Given the description of an element on the screen output the (x, y) to click on. 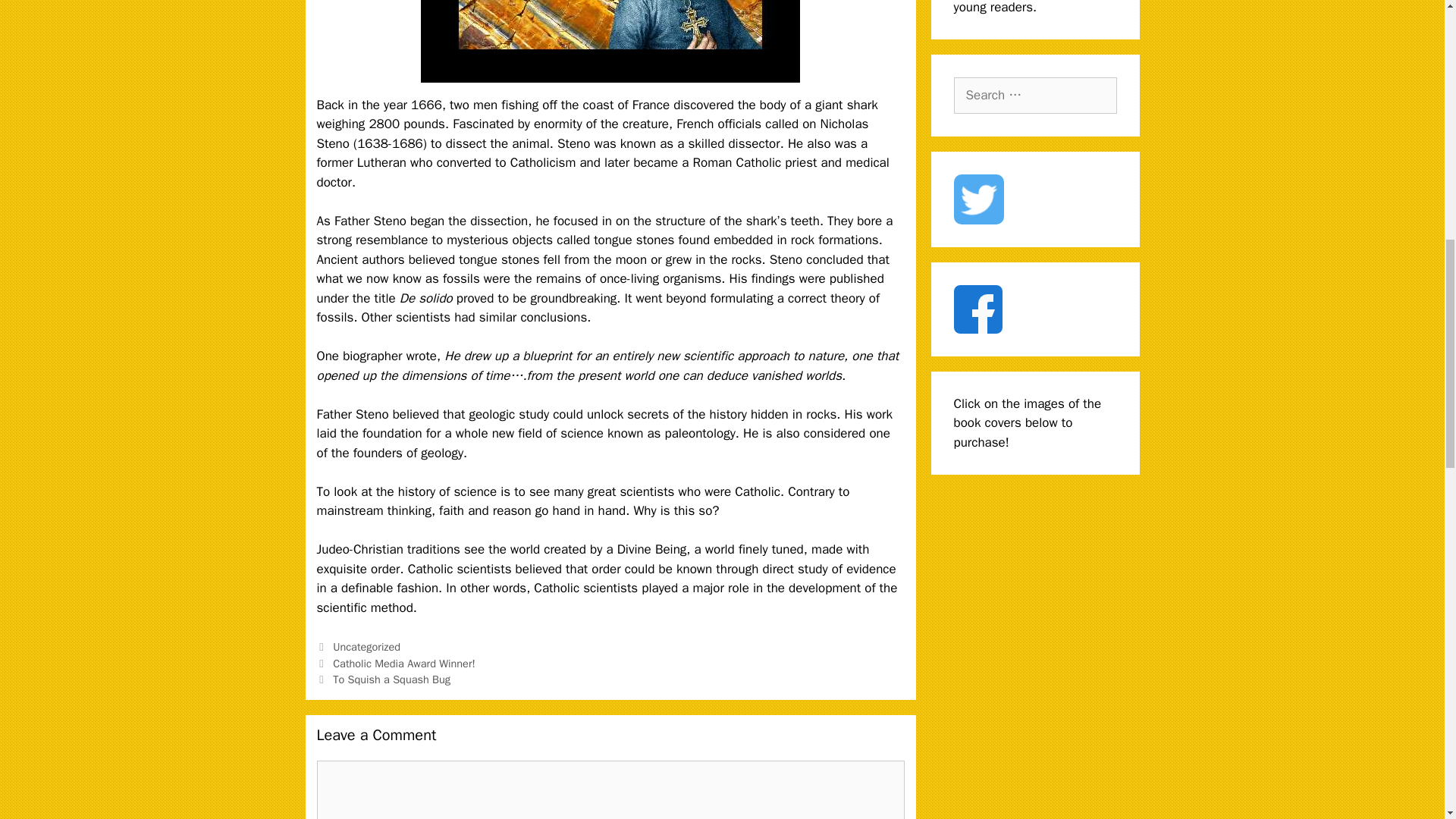
Catholic Media Award Winner! (404, 663)
Next (384, 679)
Search for: (1034, 94)
To Squish a Squash Bug (391, 679)
Previous (396, 663)
Uncategorized (366, 646)
